Given the description of an element on the screen output the (x, y) to click on. 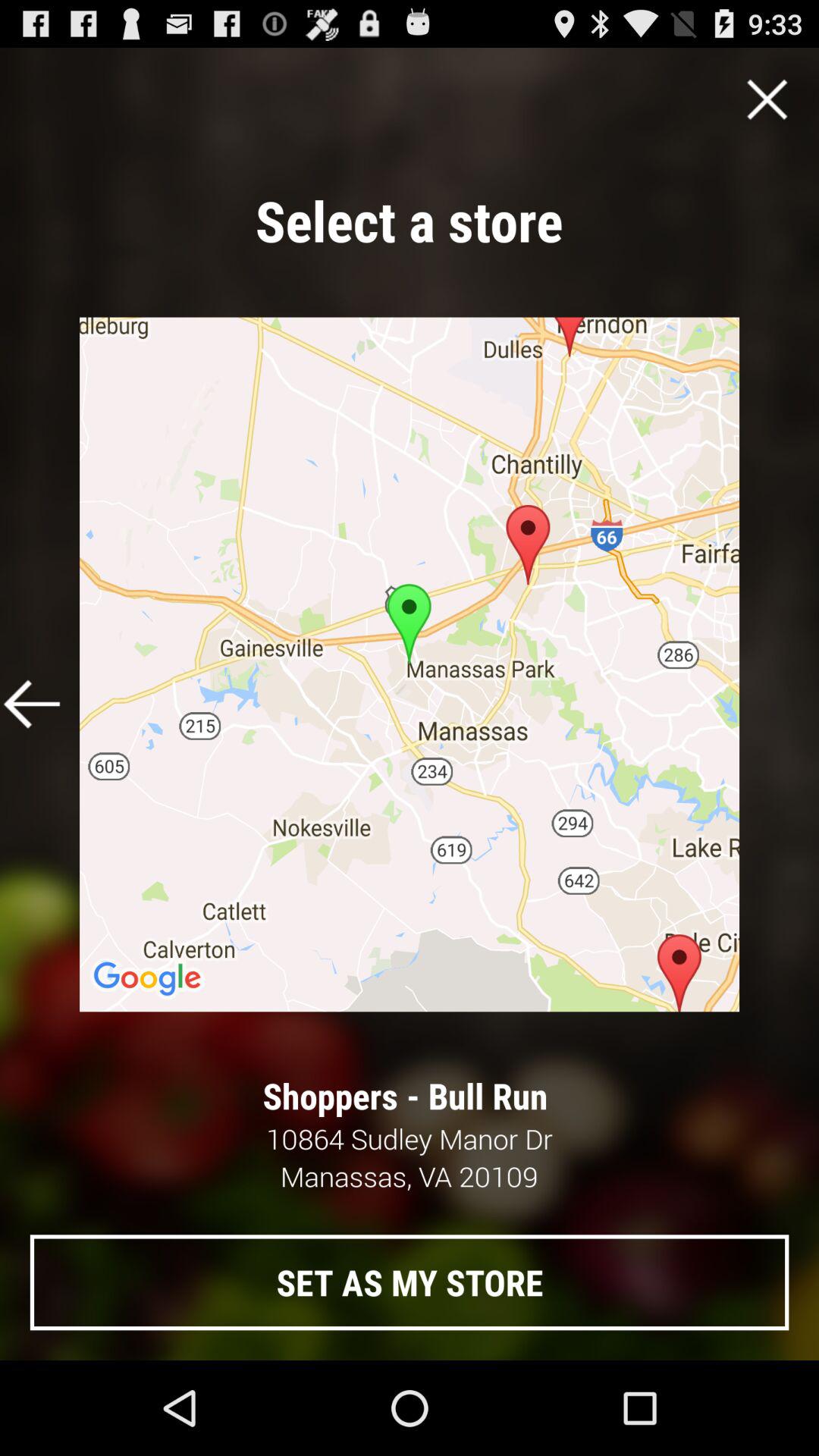
close it (767, 99)
